Given the description of an element on the screen output the (x, y) to click on. 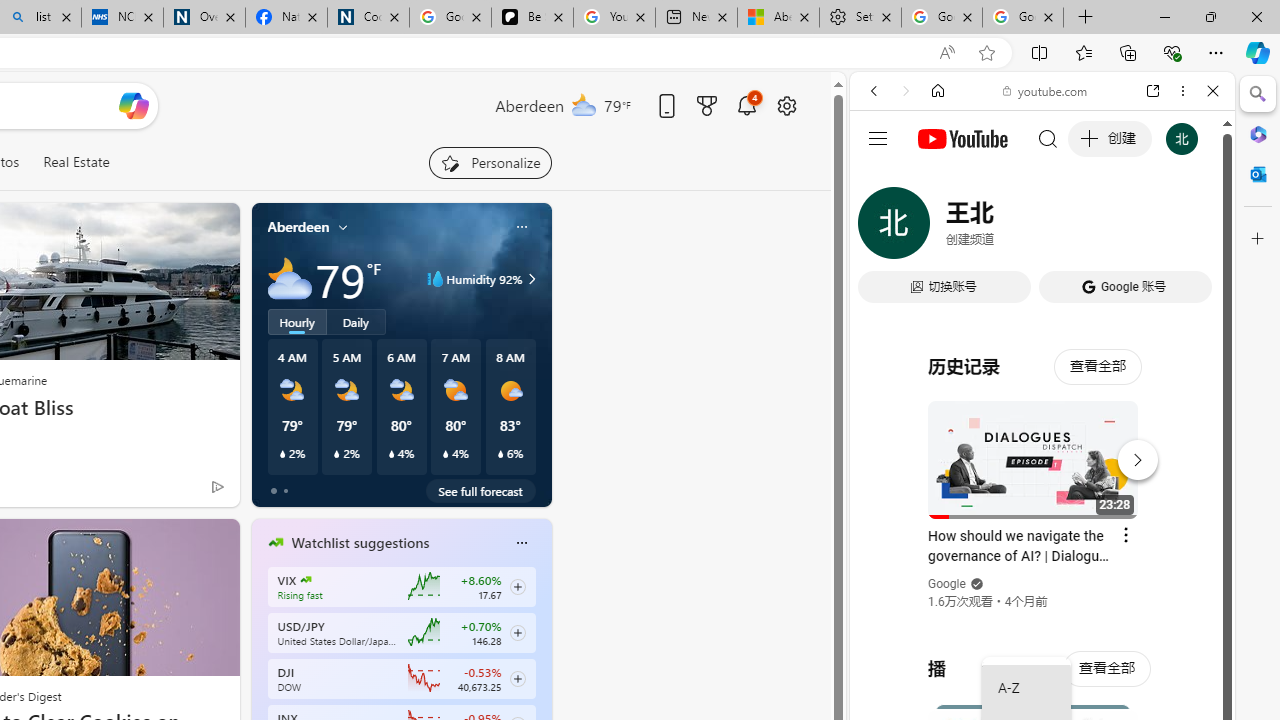
Class: b_serphb (1190, 229)
Personalize your feed" (489, 162)
Open Copilot (132, 105)
Close Customize pane (1258, 239)
Web scope (882, 180)
